Given the description of an element on the screen output the (x, y) to click on. 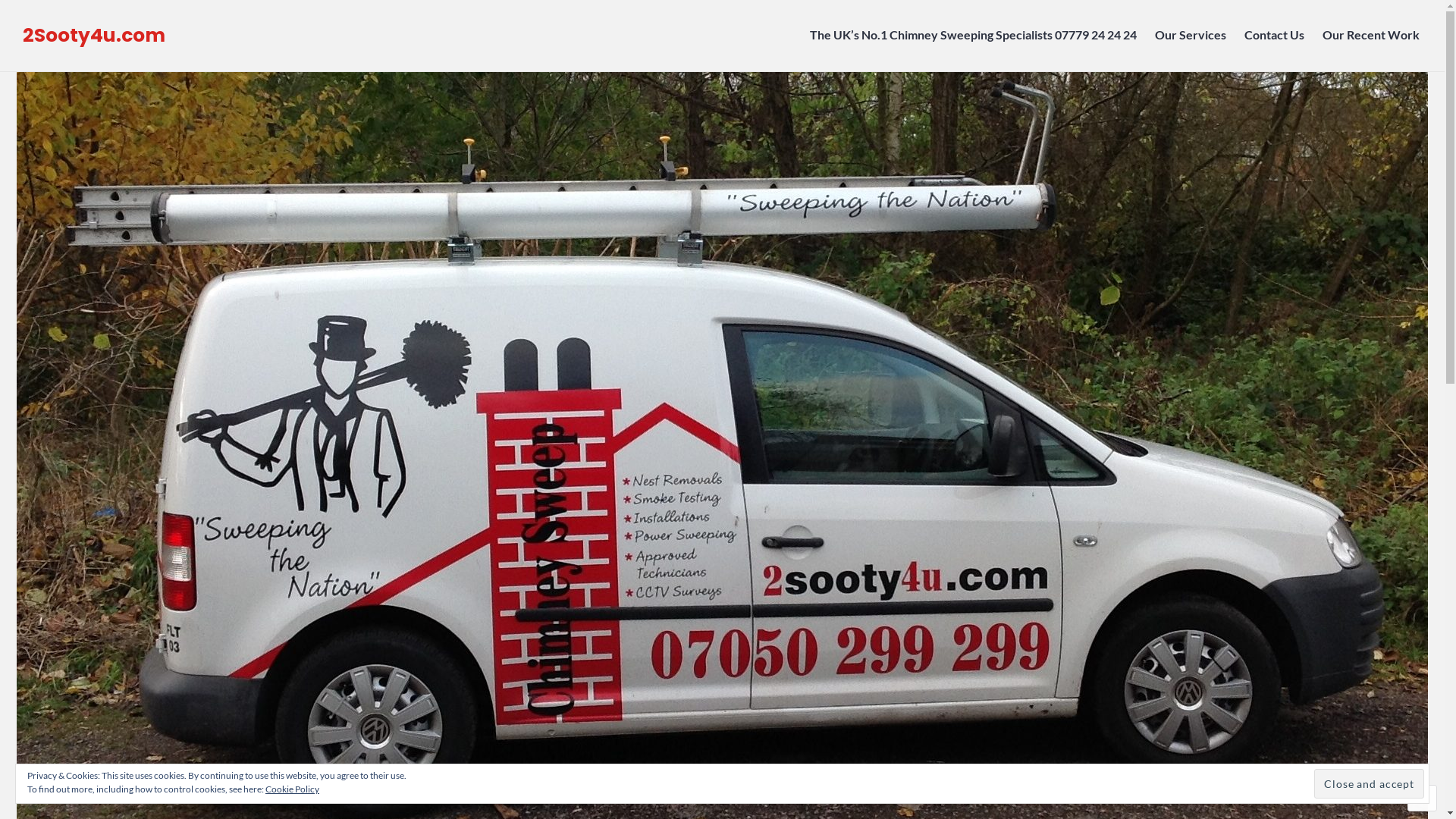
Close and accept Element type: text (1369, 783)
Our Services Element type: text (1190, 35)
Contact Us Element type: text (1274, 35)
Cookie Policy Element type: text (292, 788)
2Sooty4u.com Element type: text (93, 34)
Our Recent Work  Element type: text (1371, 35)
